Given the description of an element on the screen output the (x, y) to click on. 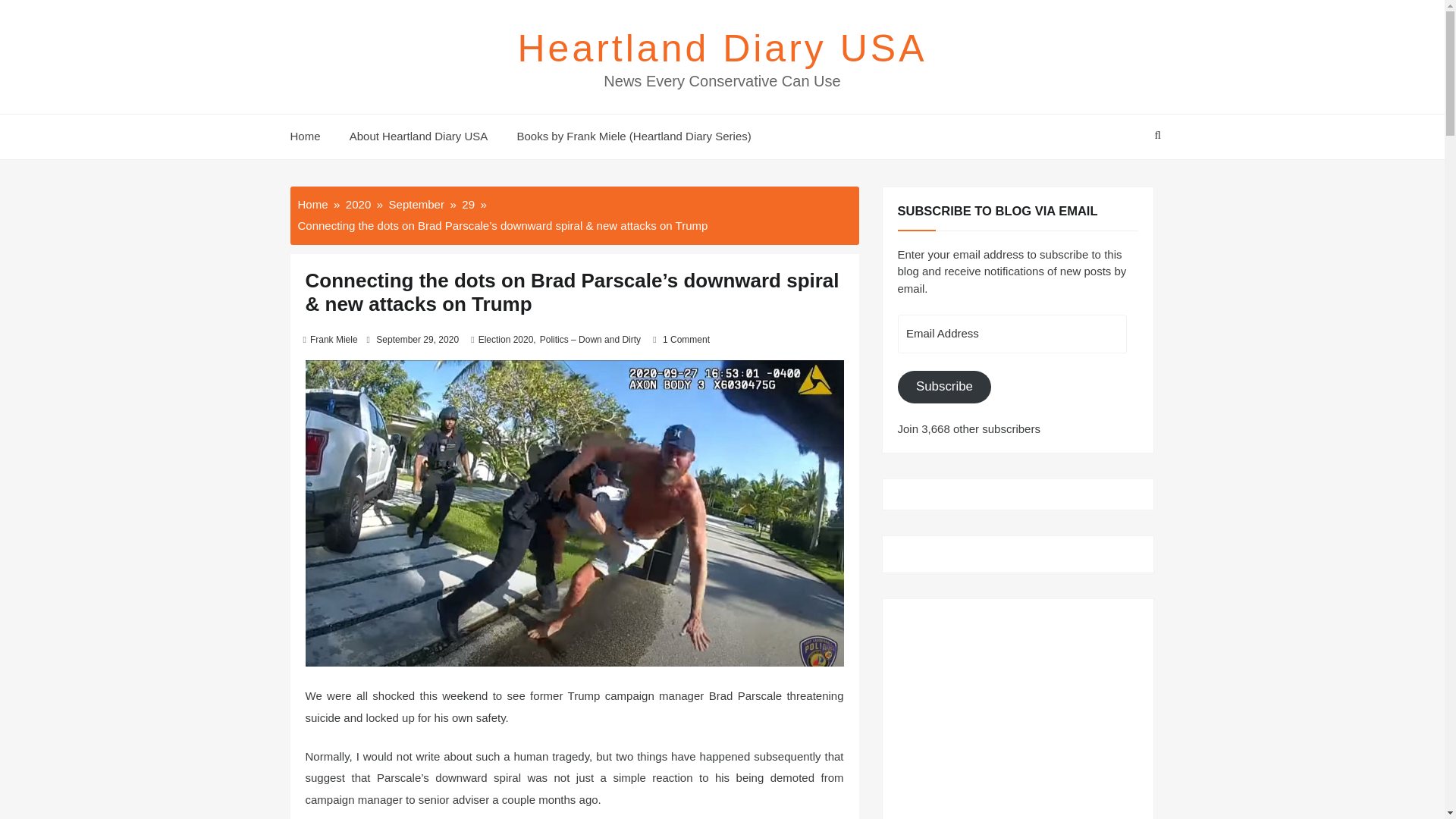
29 (467, 203)
September (416, 203)
About Heartland Diary USA (418, 136)
2020 (358, 203)
1 Comment (686, 339)
Heartland Diary USA (721, 48)
September 29, 2020 (416, 339)
Frank Miele (334, 339)
Home (311, 136)
Home (312, 203)
Election 2020 (506, 339)
Advertisement (1018, 708)
